Given the description of an element on the screen output the (x, y) to click on. 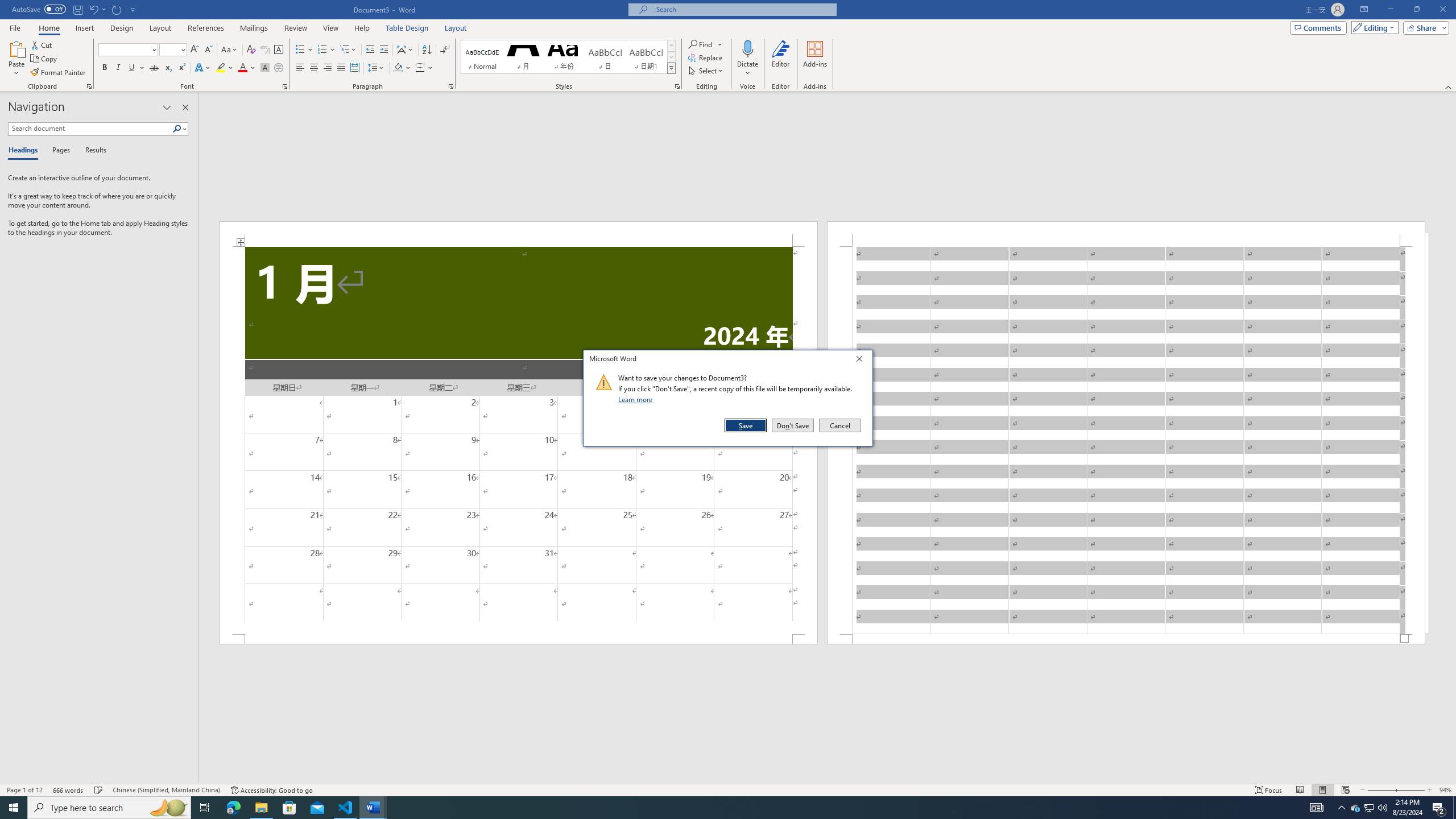
Search (177, 128)
Page Number Page 1 of 12 (24, 790)
Shading (402, 67)
Mode (1372, 27)
Editor (780, 58)
Undo Text Fill Effect (96, 9)
Dictate (747, 58)
Replace... (705, 56)
Text Highlight Color (224, 67)
Class: NetUIImage (603, 382)
Footer -Section 1- (1126, 638)
Styles... (676, 85)
Layout (455, 28)
Underline (131, 67)
